Given the description of an element on the screen output the (x, y) to click on. 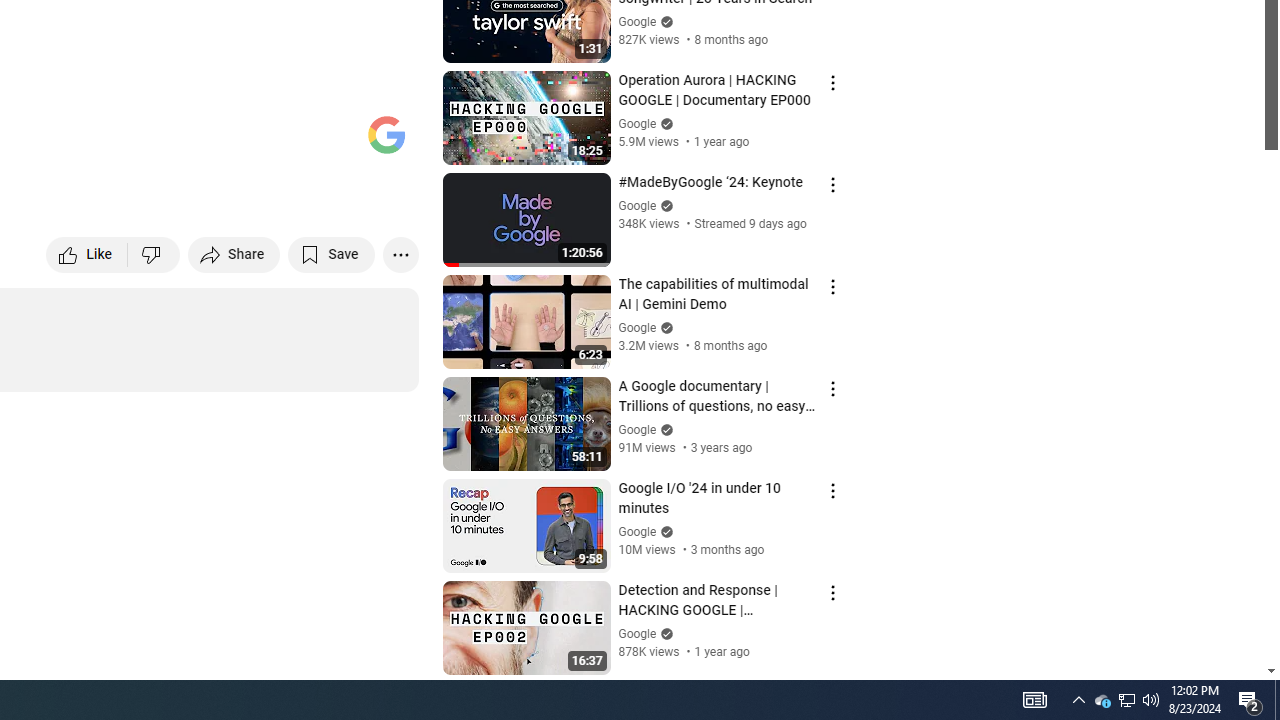
Share (234, 254)
Full screen (f) (382, 142)
Like (87, 254)
Theater mode (t) (333, 142)
Save to playlist (331, 254)
Dislike this video (154, 254)
Miniplayer (i) (286, 142)
Subtitles/closed captions unavailable (190, 142)
Channel watermark (386, 134)
